Given the description of an element on the screen output the (x, y) to click on. 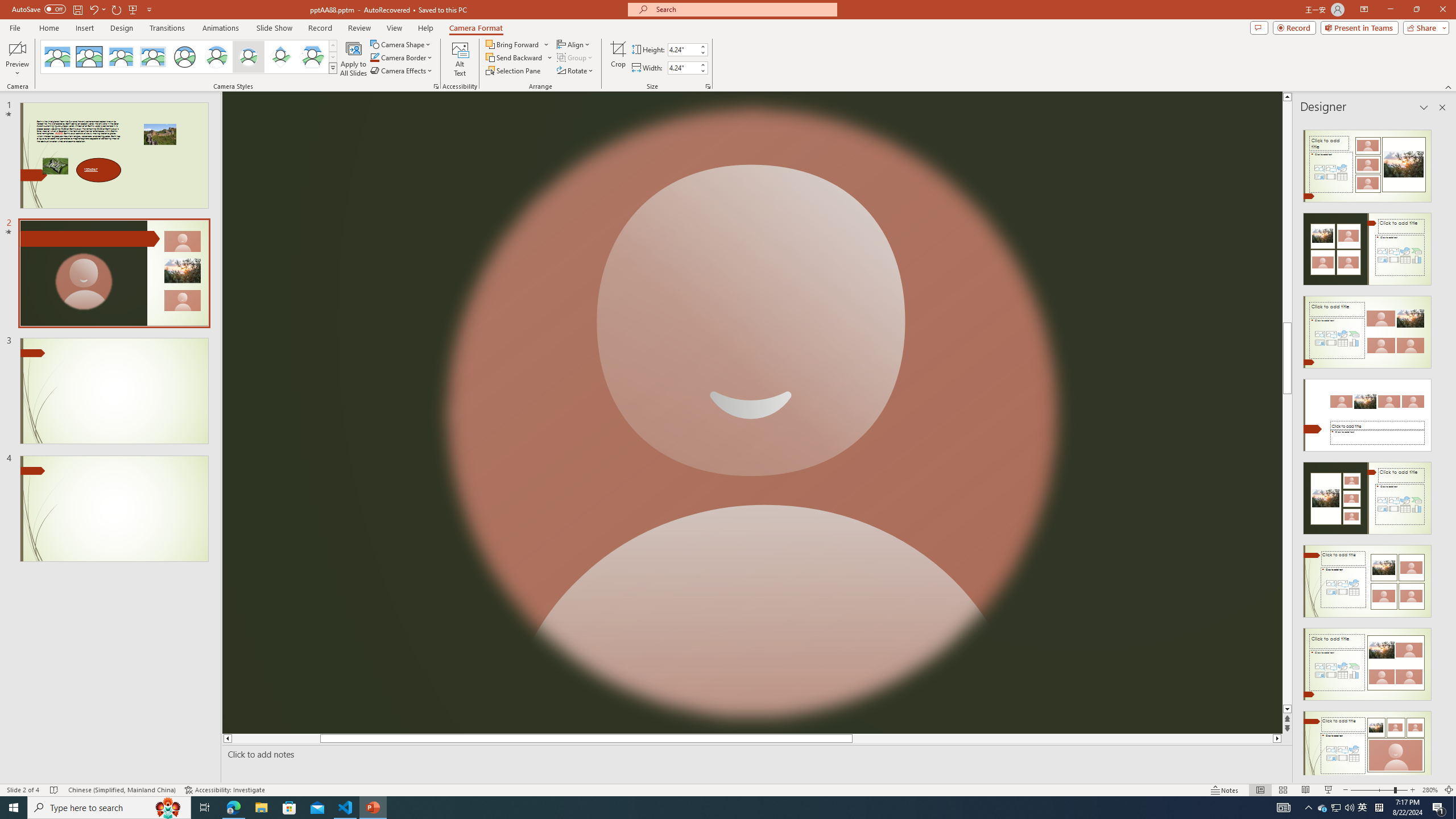
Row Down (333, 56)
Zoom to Fit  (1449, 790)
Center Shadow Diamond (280, 56)
View (395, 28)
No Style (57, 56)
Restore Down (1416, 9)
Page up (1287, 232)
Camera 19, No camera detected. (752, 412)
Decorative Locked (752, 412)
Ribbon Display Options (1364, 9)
Record (1294, 27)
Camera Border Teal, Accent 1 (374, 56)
Save (77, 9)
Camera Format (475, 28)
Simple Frame Rectangle (88, 56)
